Given the description of an element on the screen output the (x, y) to click on. 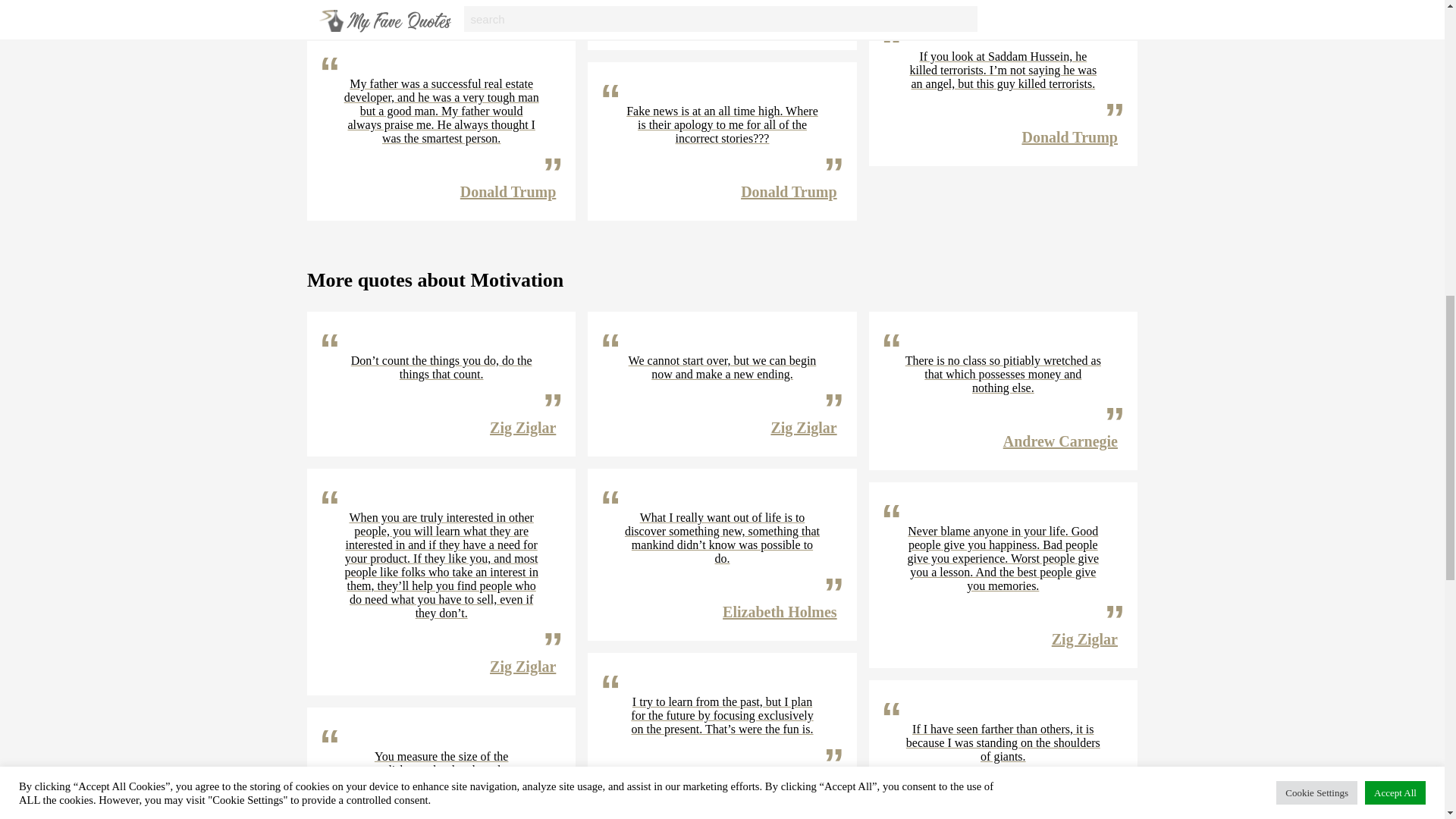
Zig Ziglar (522, 427)
Donald Trump (508, 1)
Donald Trump (1070, 136)
Donald Trump (789, 21)
Donald Trump (789, 191)
Donald Trump (508, 191)
Zig Ziglar (522, 666)
